Given the description of an element on the screen output the (x, y) to click on. 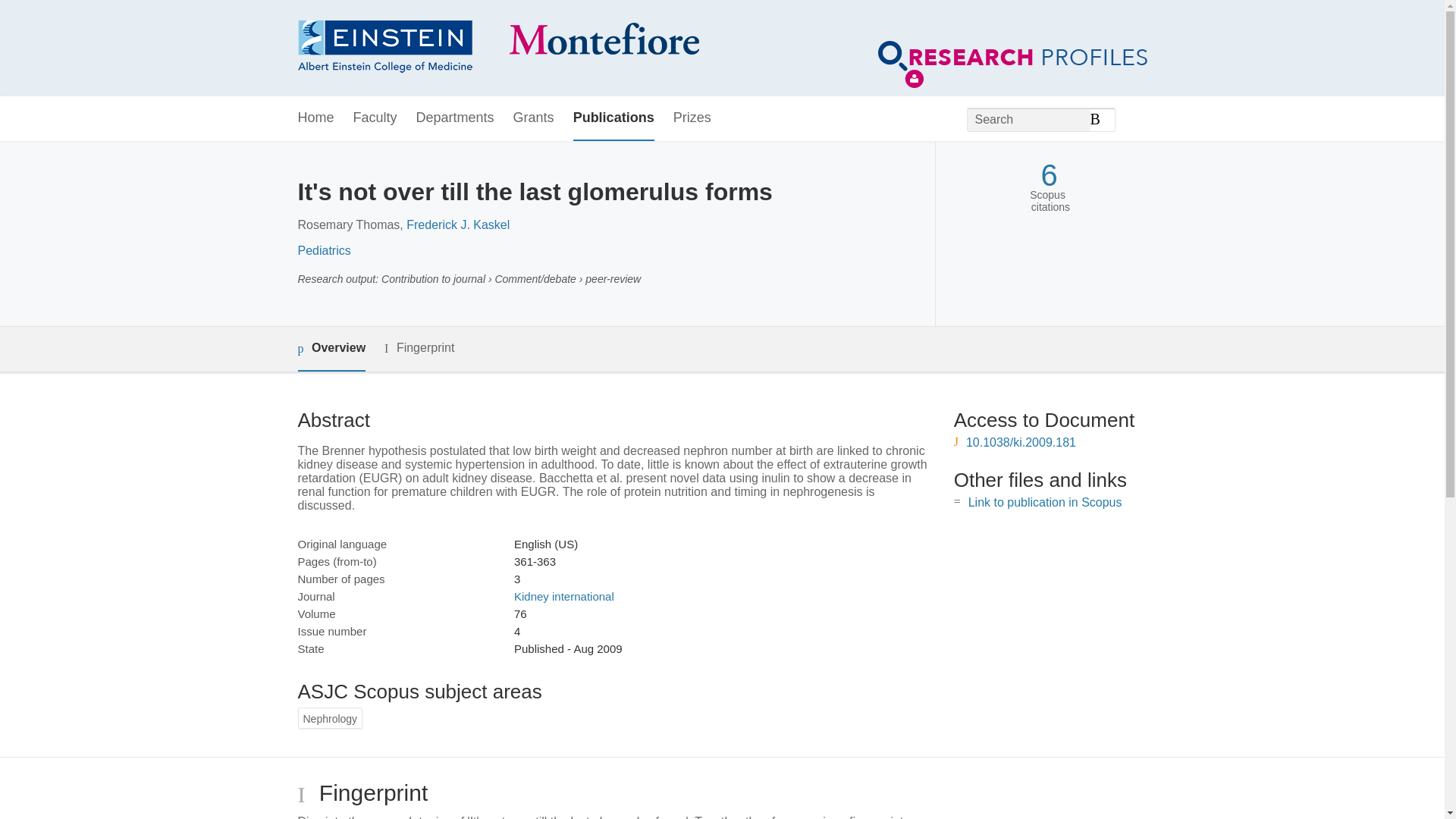
Link to publication in Scopus (1045, 502)
Publications (613, 118)
Frederick J. Kaskel (457, 224)
Albert Einstein College of Medicine Home (497, 48)
Faculty (375, 118)
Overview (331, 348)
Kidney international (563, 595)
Grants (533, 118)
Fingerprint (419, 348)
